Given the description of an element on the screen output the (x, y) to click on. 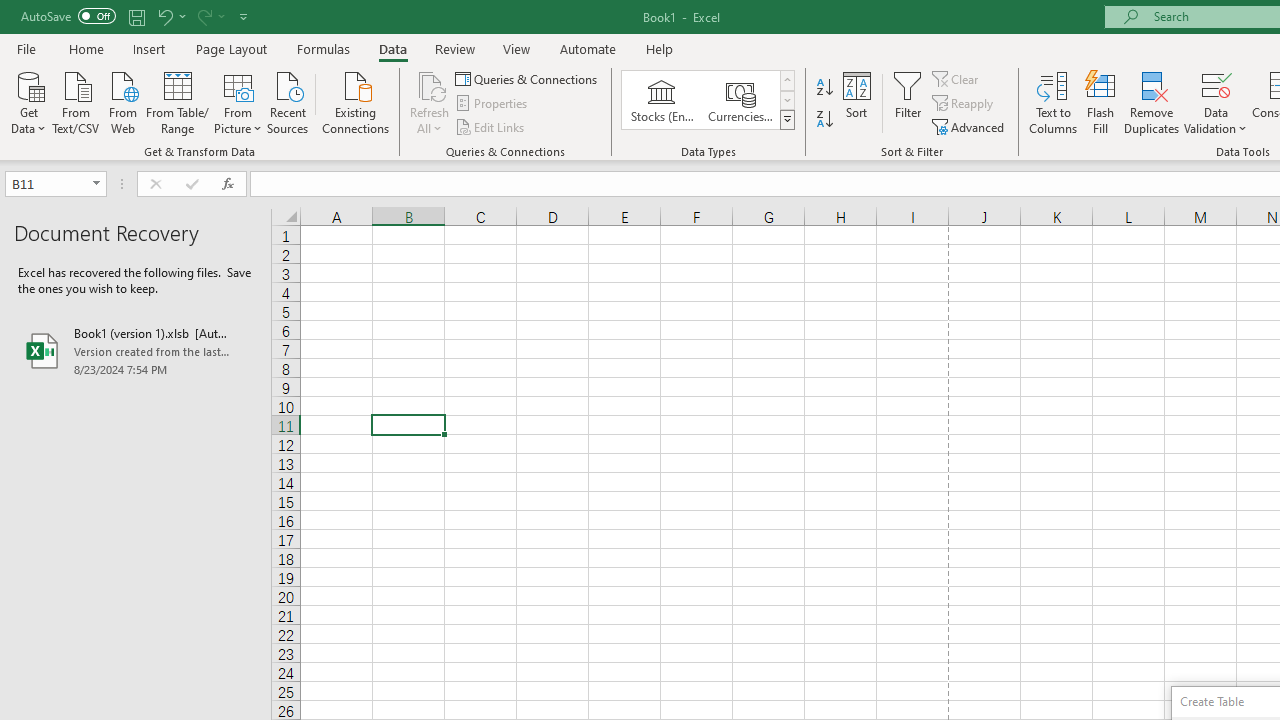
Edit Links (491, 126)
Sort A to Z (824, 87)
Row up (786, 79)
Filter (908, 102)
Properties (492, 103)
From Web (122, 101)
